Given the description of an element on the screen output the (x, y) to click on. 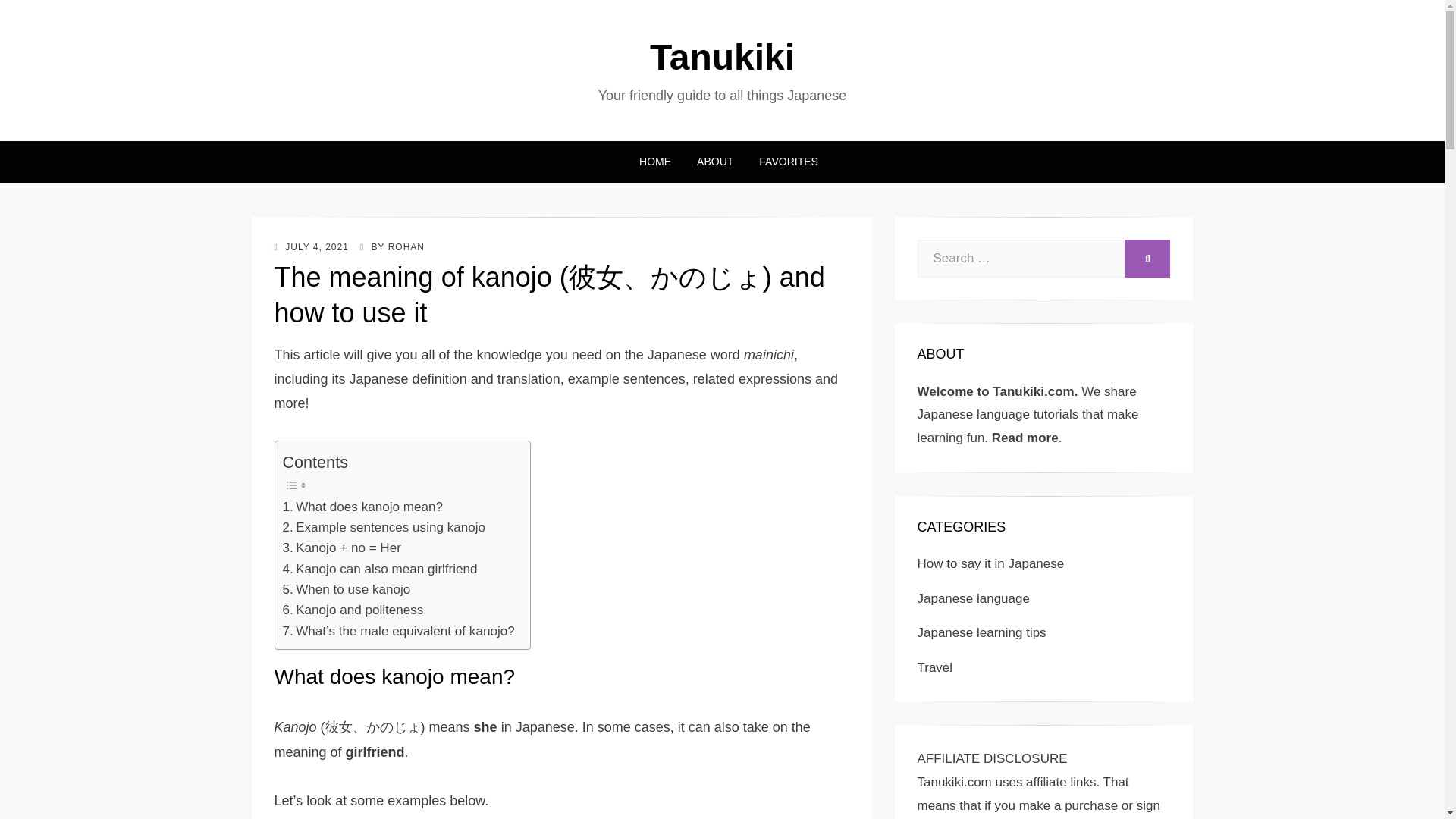
Example sentences using kanojo (383, 526)
ABOUT (714, 161)
HOME (655, 161)
Tanukiki (721, 56)
What does kanojo mean? (362, 506)
Kanojo can also mean girlfriend (379, 568)
Tanukiki (721, 56)
ROHAN (406, 246)
Example sentences using kanojo (383, 526)
Search for: (1021, 258)
When to use kanojo (346, 589)
FAVORITES (781, 161)
What does kanojo mean? (362, 506)
When to use kanojo (346, 589)
Kanojo and politeness (352, 609)
